Given the description of an element on the screen output the (x, y) to click on. 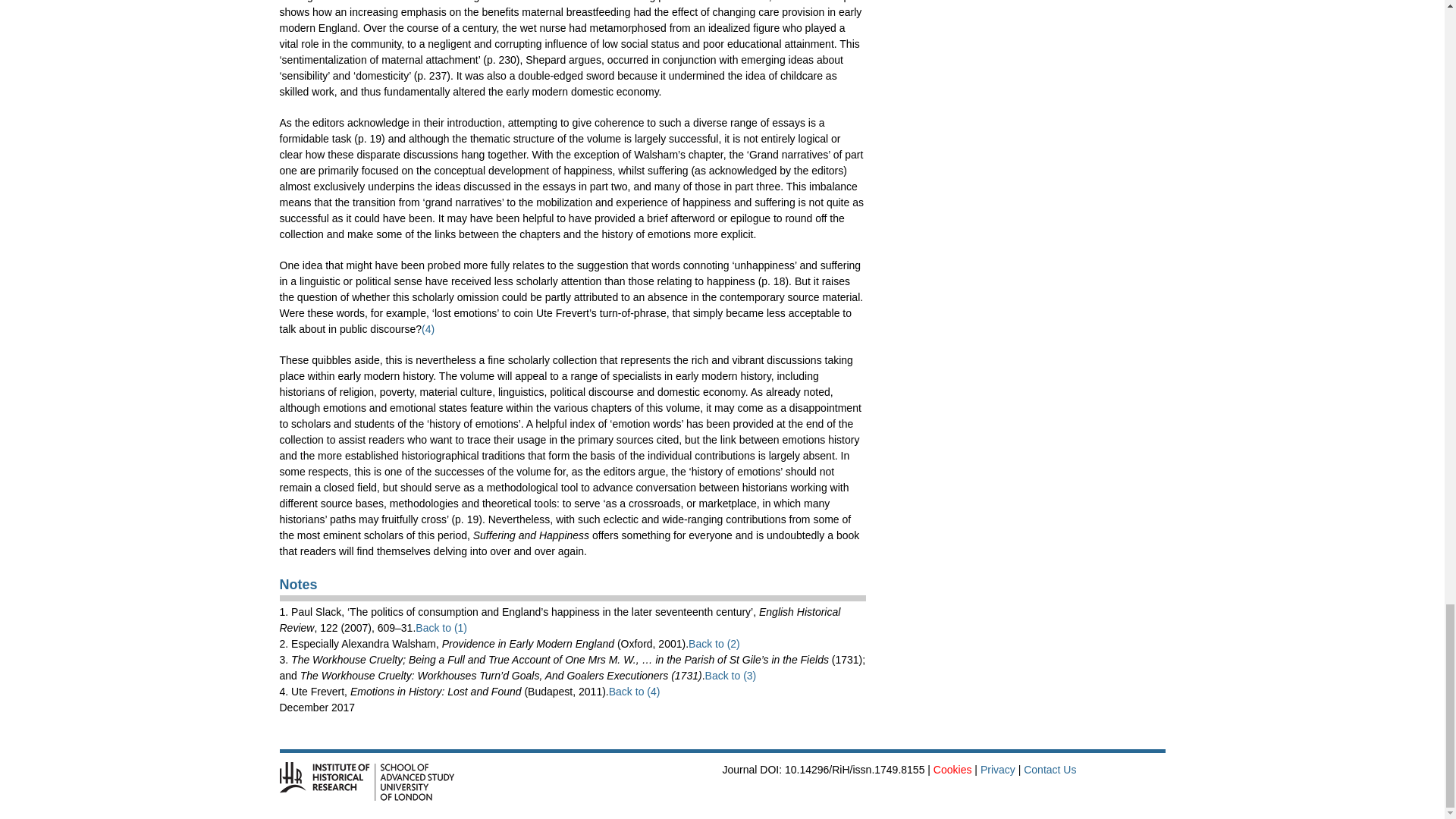
Cookies (952, 769)
Contact Us (1049, 769)
Privacy (996, 769)
